Given the description of an element on the screen output the (x, y) to click on. 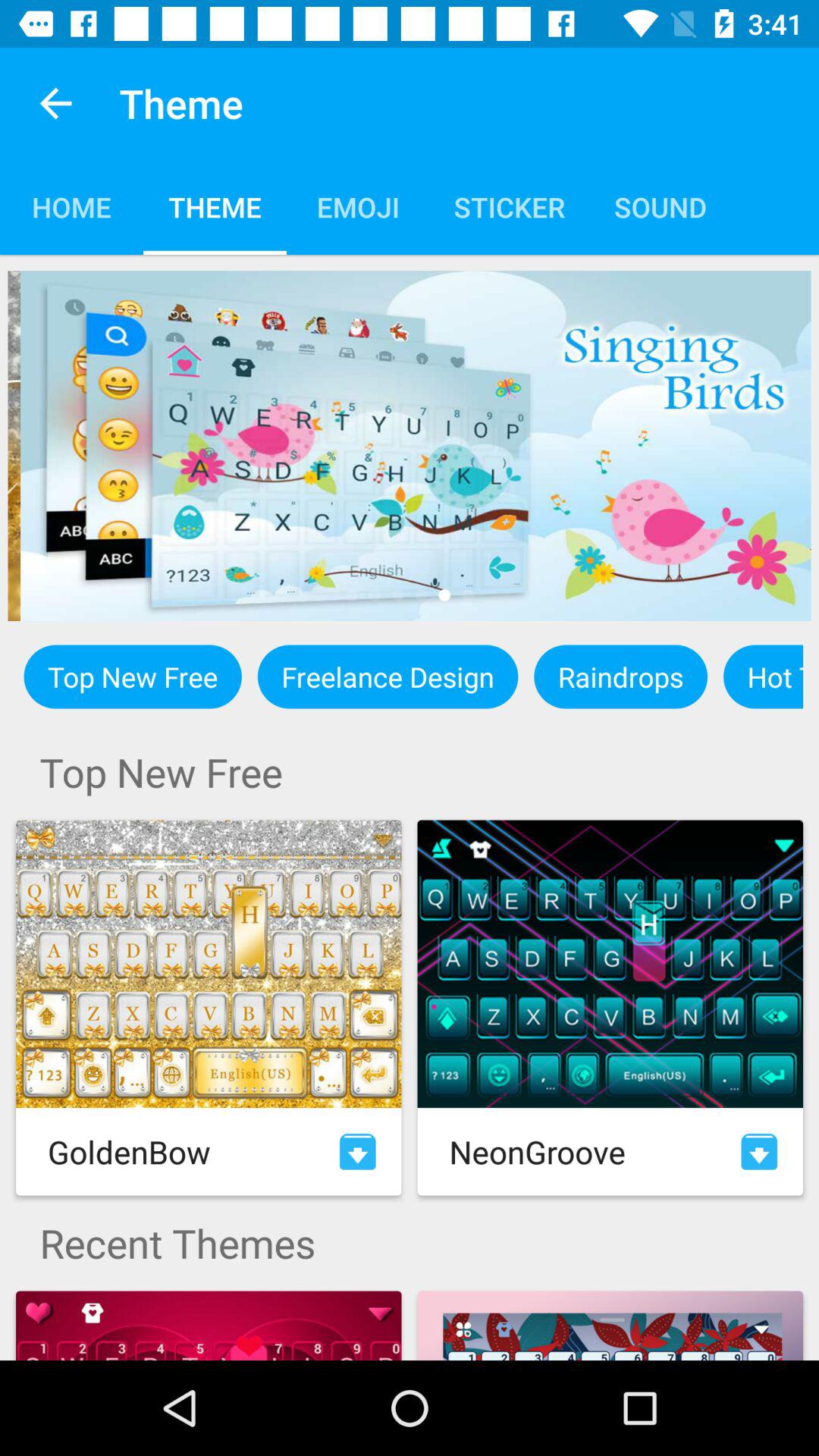
choose singing birds theme (409, 445)
